Given the description of an element on the screen output the (x, y) to click on. 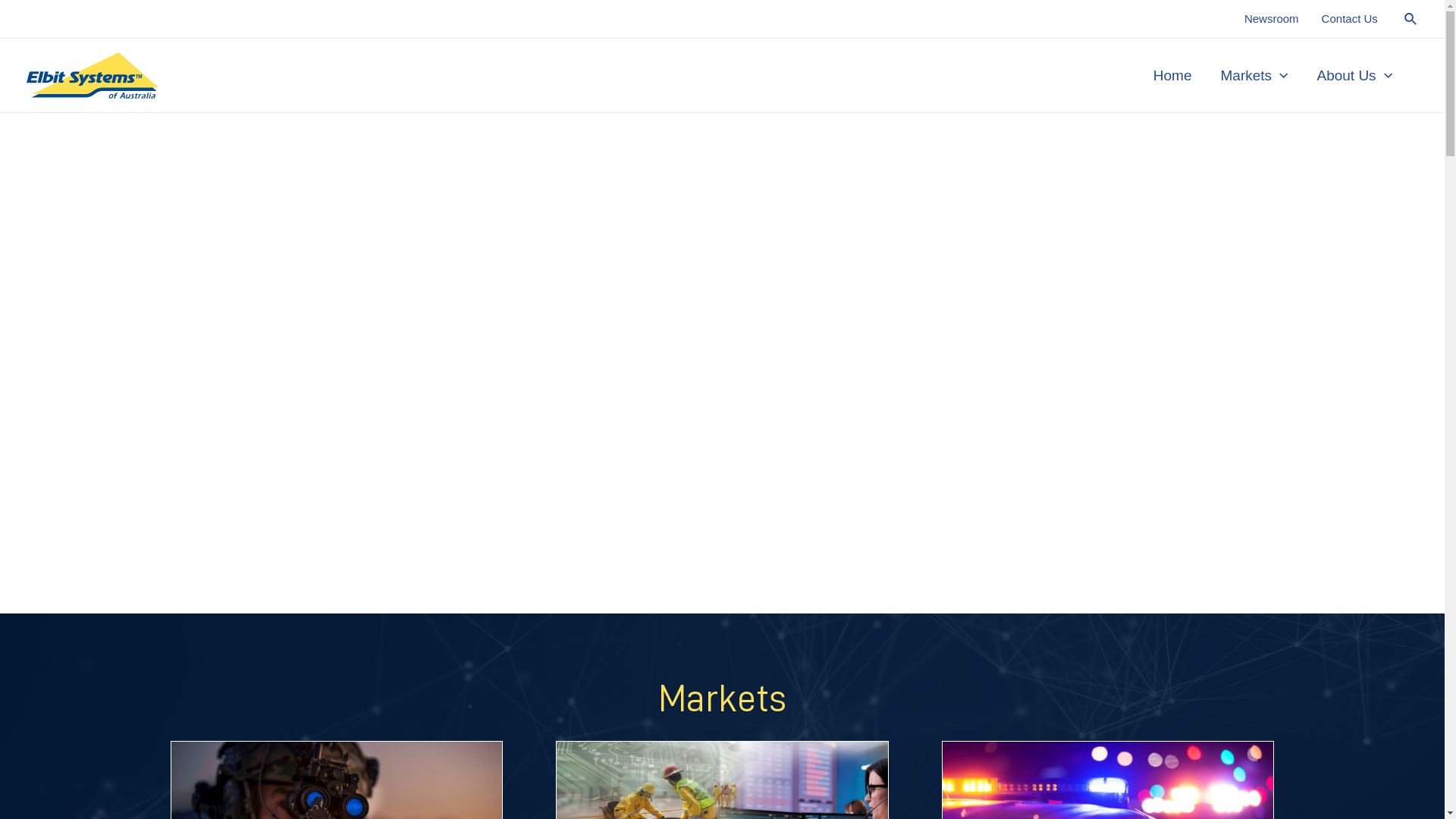
Newsroom Element type: text (1271, 18)
About Us Element type: text (1354, 74)
Home Element type: text (1172, 74)
Contact Us Element type: text (1349, 18)
Markets Element type: text (1253, 74)
